Given the description of an element on the screen output the (x, y) to click on. 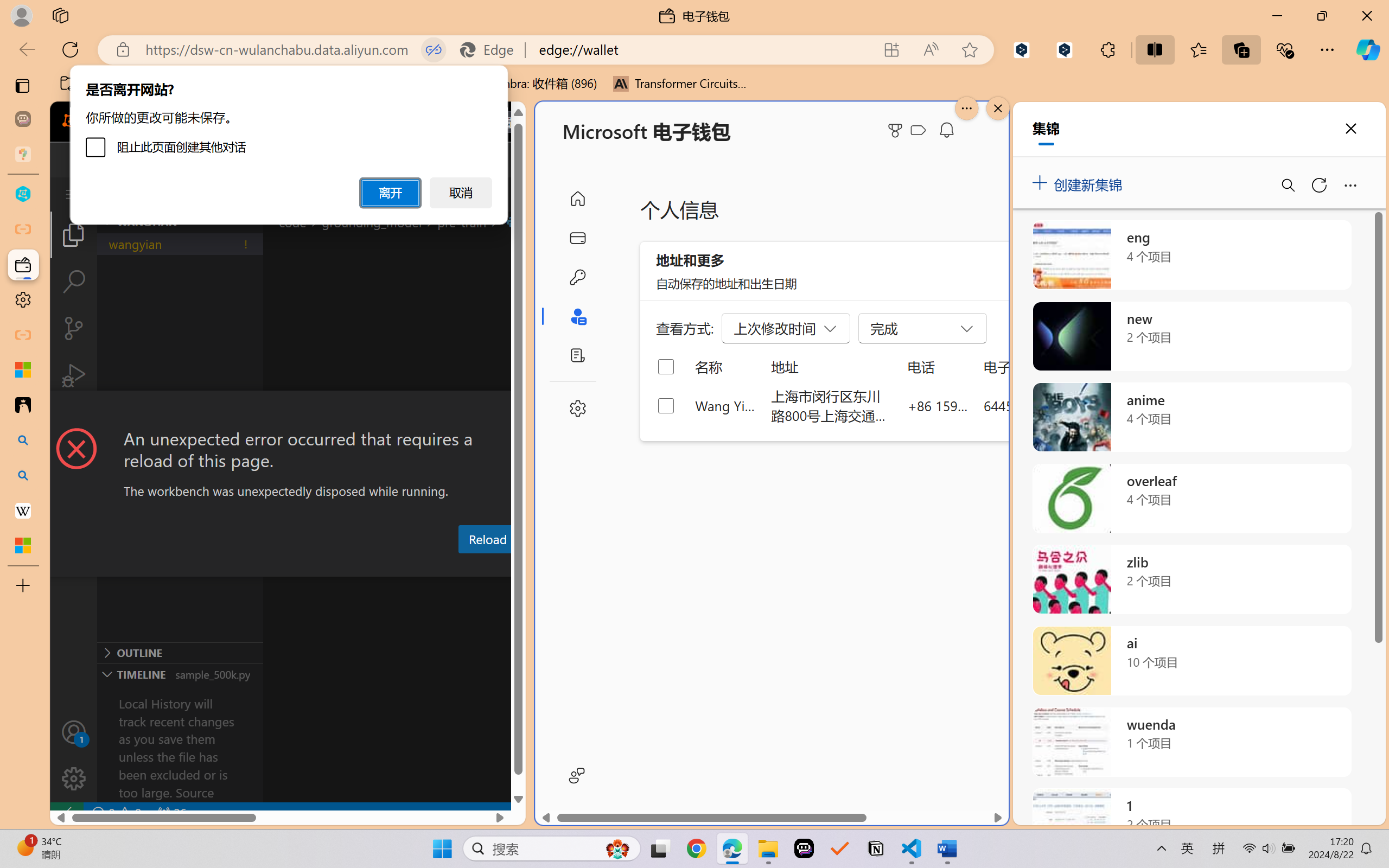
Timeline Section (179, 673)
